Given the description of an element on the screen output the (x, y) to click on. 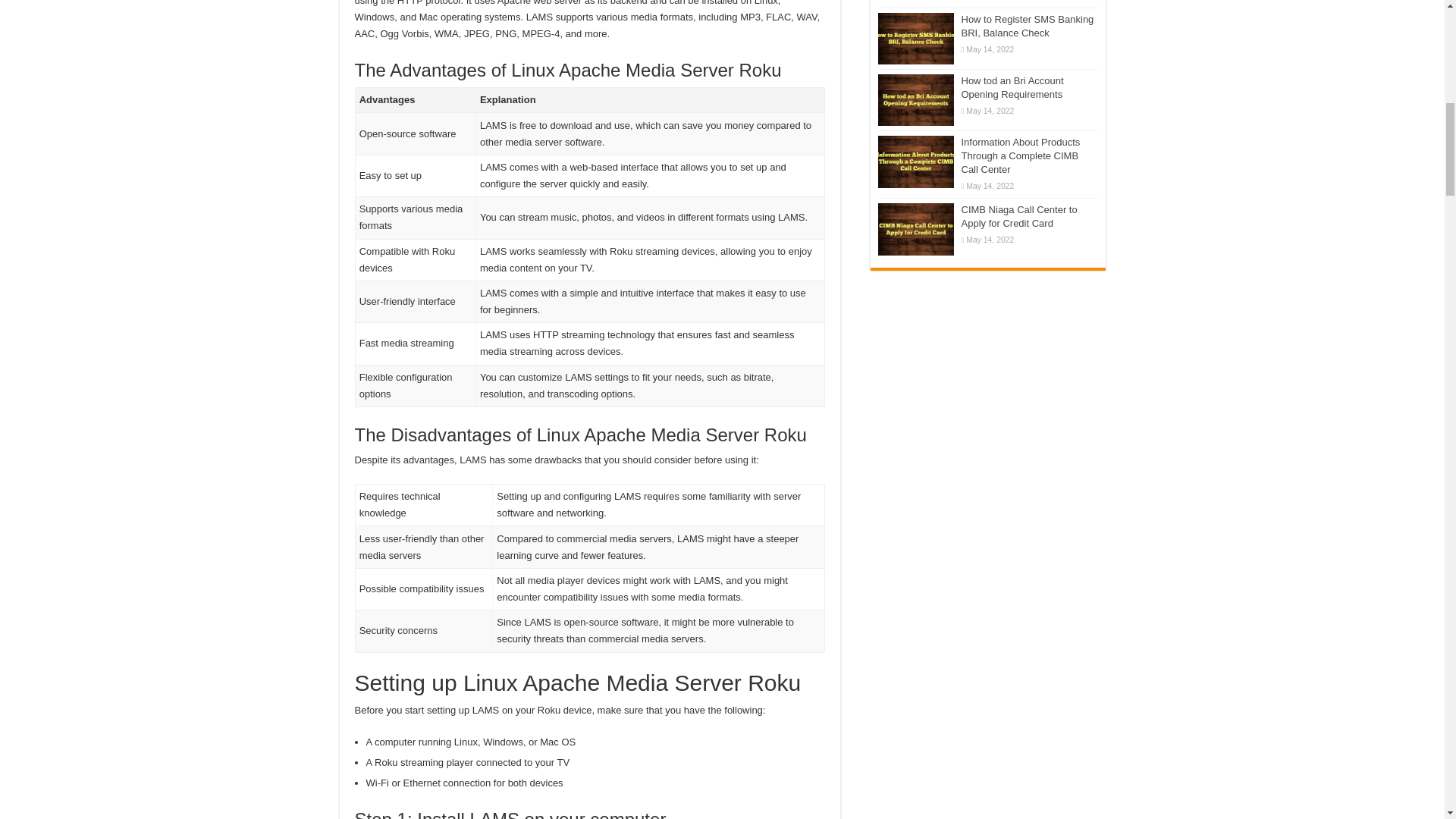
How tod an Bri Account Opening Requirements (915, 100)
CIMB Niaga Call Center to Apply for Credit Card (915, 228)
How to Register SMS Banking BRI, Balance Check (915, 38)
